Given the description of an element on the screen output the (x, y) to click on. 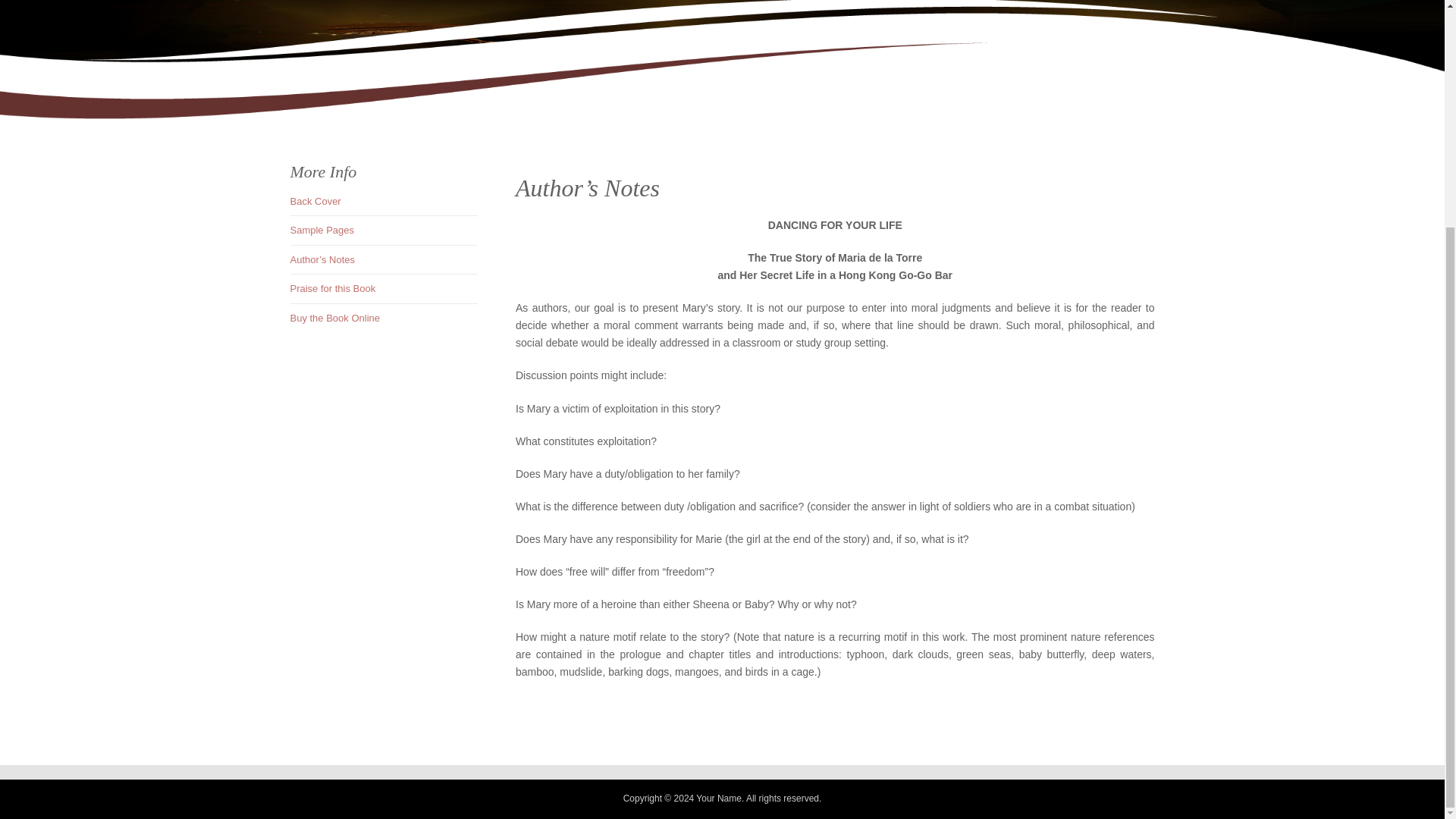
Praise for this Book (332, 288)
Buy the Book Online (334, 317)
Back Cover (314, 201)
Sample Pages (321, 229)
